Given the description of an element on the screen output the (x, y) to click on. 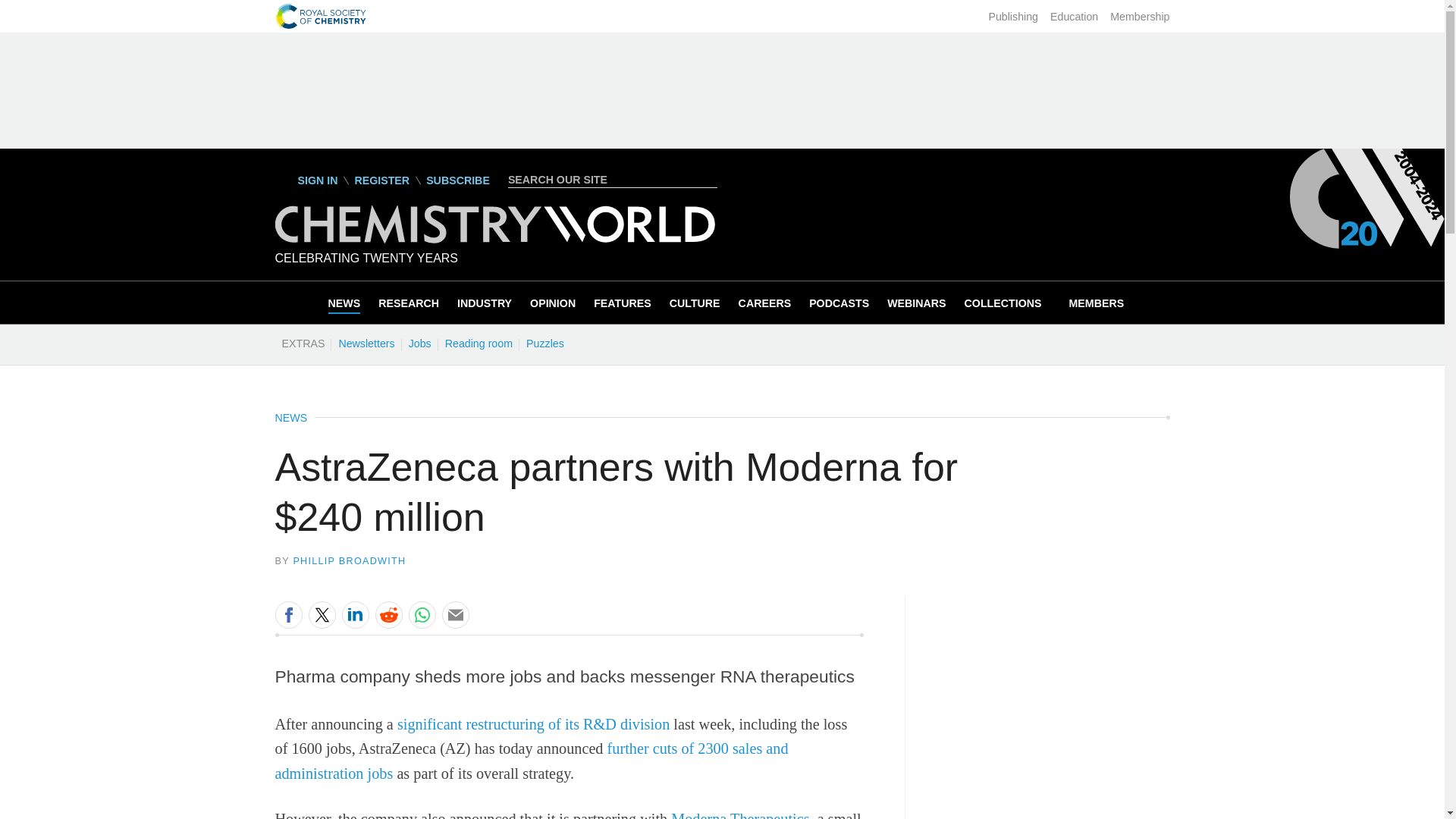
Chemistry World (494, 224)
Membership (1139, 16)
Publishing (1013, 16)
SEARCH (708, 179)
Newsletters (366, 343)
Share this on WhatsApp (421, 614)
Share this on LinkedIn (354, 614)
Share this by email (454, 614)
Chemistry World (494, 238)
REGISTER (381, 180)
